Given the description of an element on the screen output the (x, y) to click on. 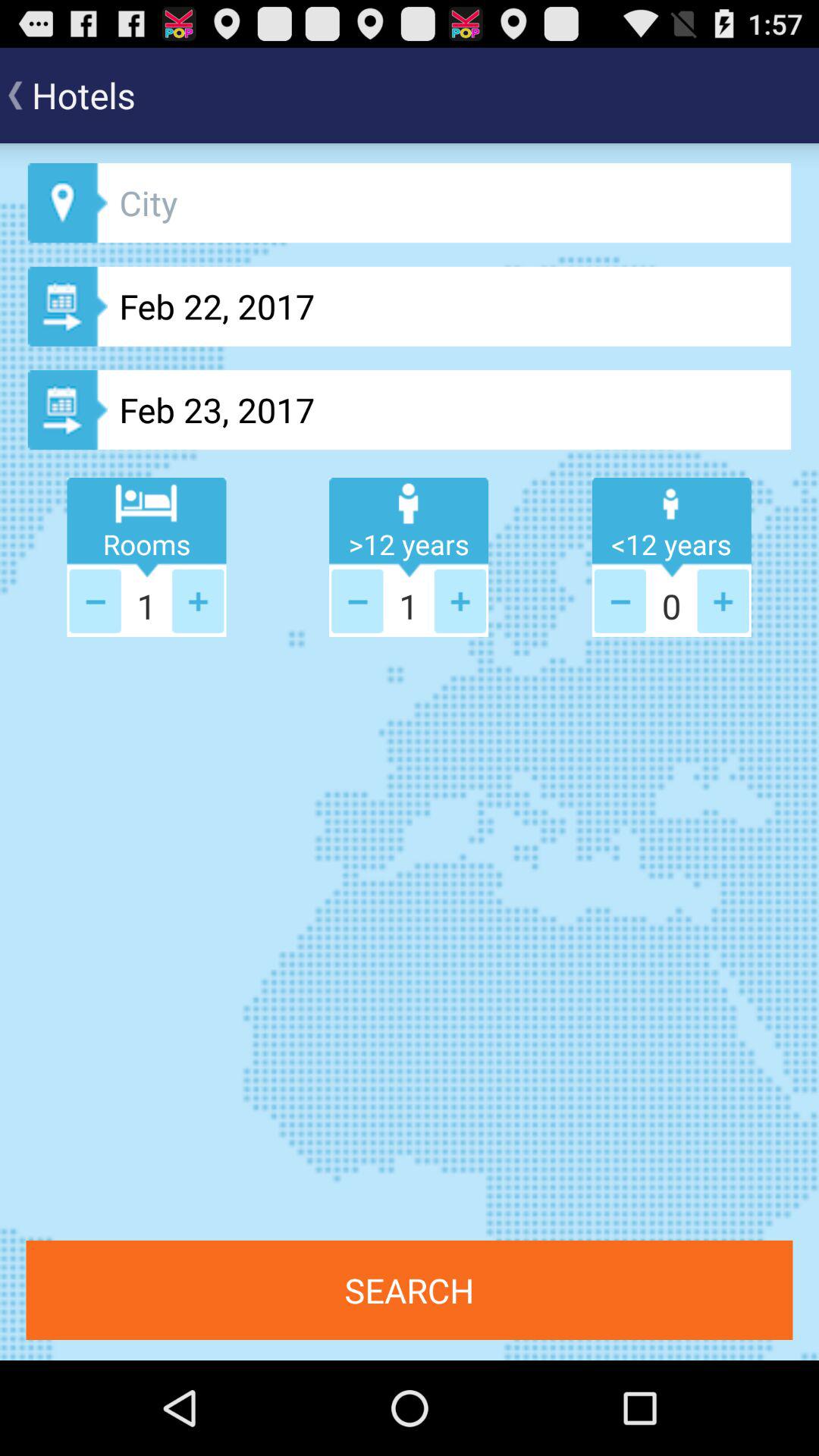
add button (198, 601)
